Given the description of an element on the screen output the (x, y) to click on. 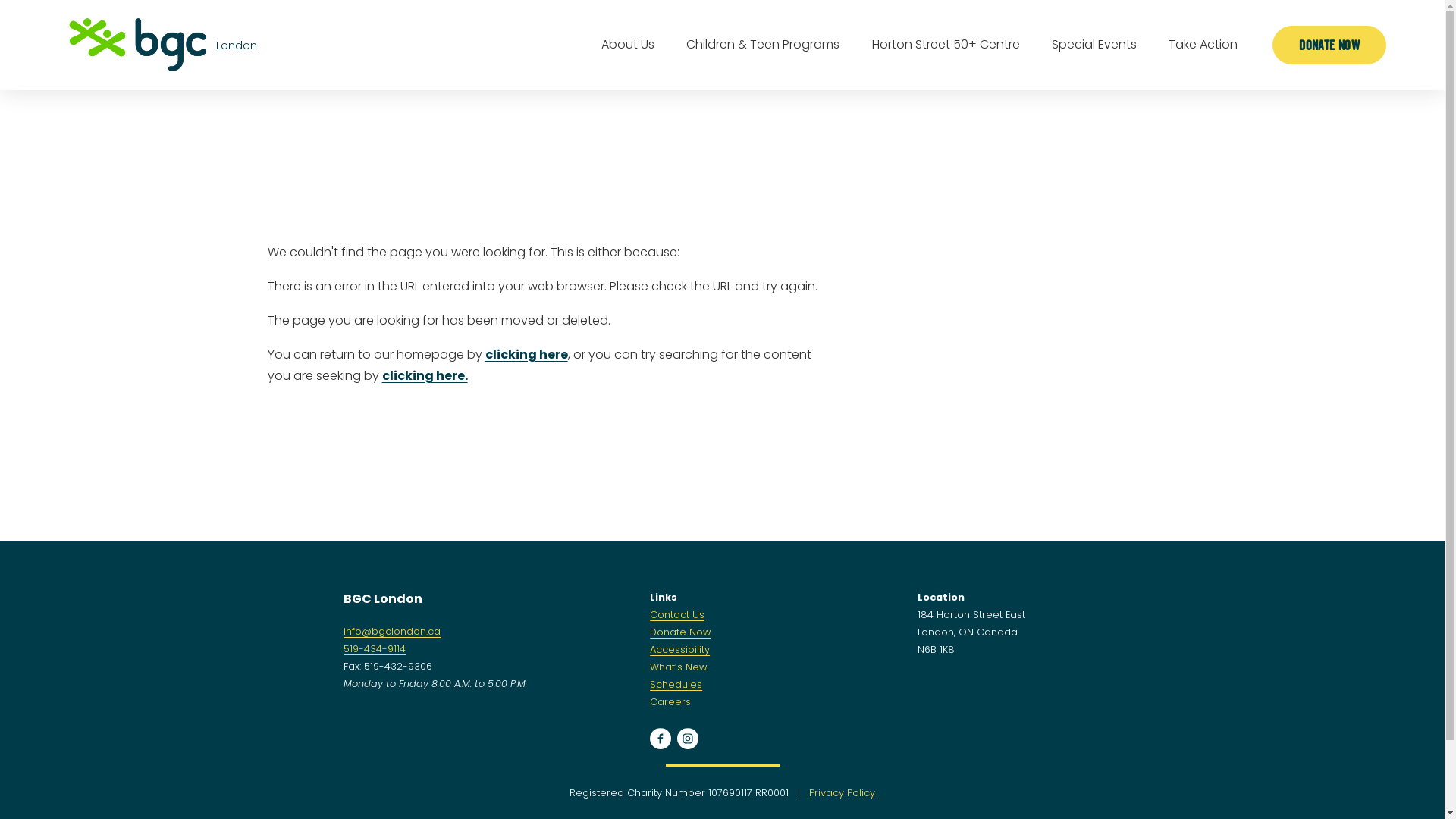
clicking here Element type: text (526, 354)
About Us Element type: text (627, 45)
info@bgclondon.ca Element type: text (391, 631)
519-434-9114 Element type: text (374, 648)
Horton Street 50+ Centre Element type: text (945, 45)
Accessibility Element type: text (679, 649)
Special Events Element type: text (1093, 45)
Donate Now Element type: text (1329, 44)
Donate Now Element type: text (679, 631)
Contact Us Element type: text (676, 614)
Privacy Policy Element type: text (842, 792)
Schedules Element type: text (675, 684)
Careers Element type: text (669, 701)
clicking here. Element type: text (424, 375)
Children & Teen Programs Element type: text (762, 45)
Take Action Element type: text (1202, 45)
